Given the description of an element on the screen output the (x, y) to click on. 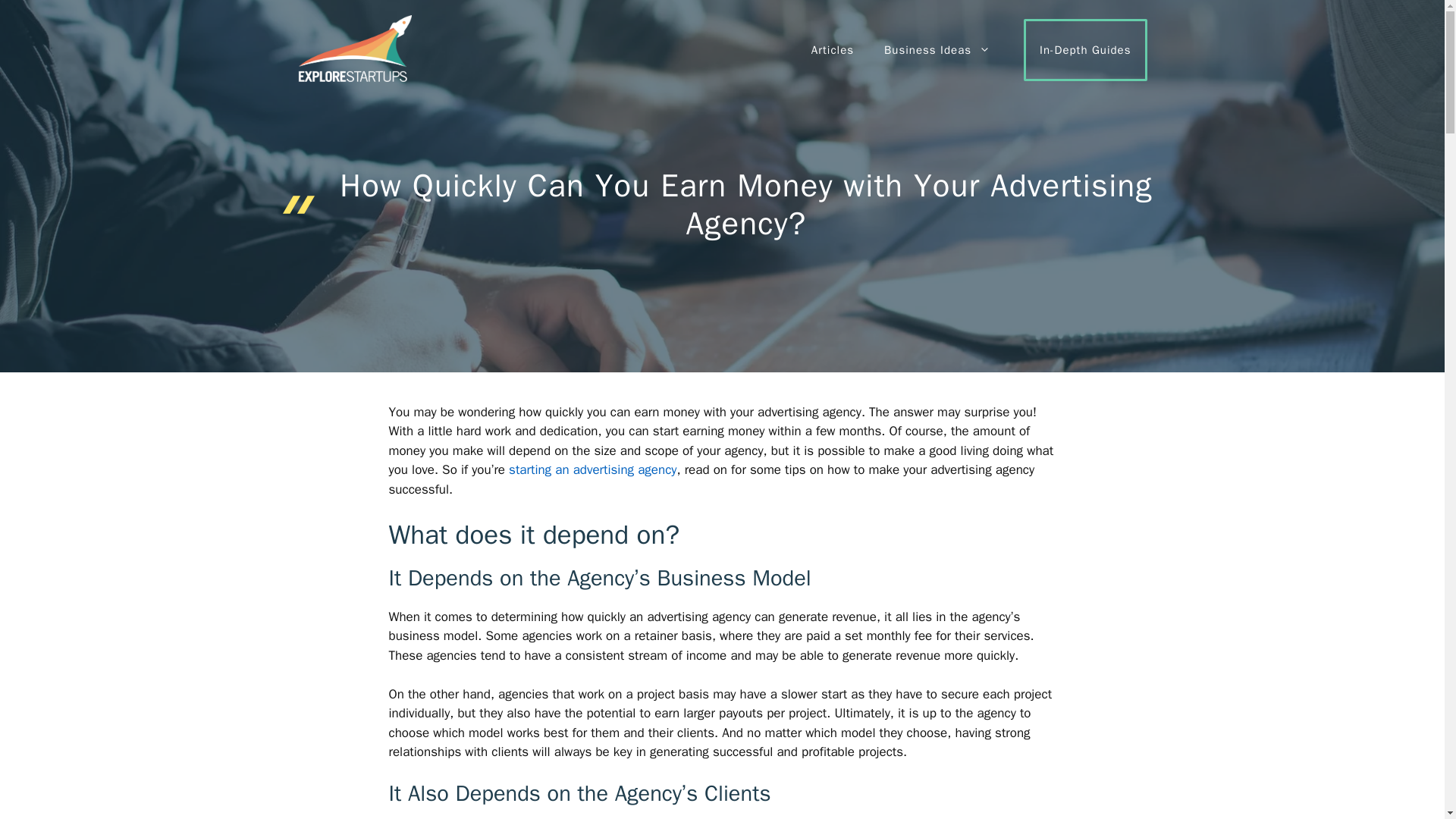
In-Depth Guides (1085, 49)
Articles (832, 49)
Business Ideas (937, 49)
starting an advertising agency (592, 469)
